Given the description of an element on the screen output the (x, y) to click on. 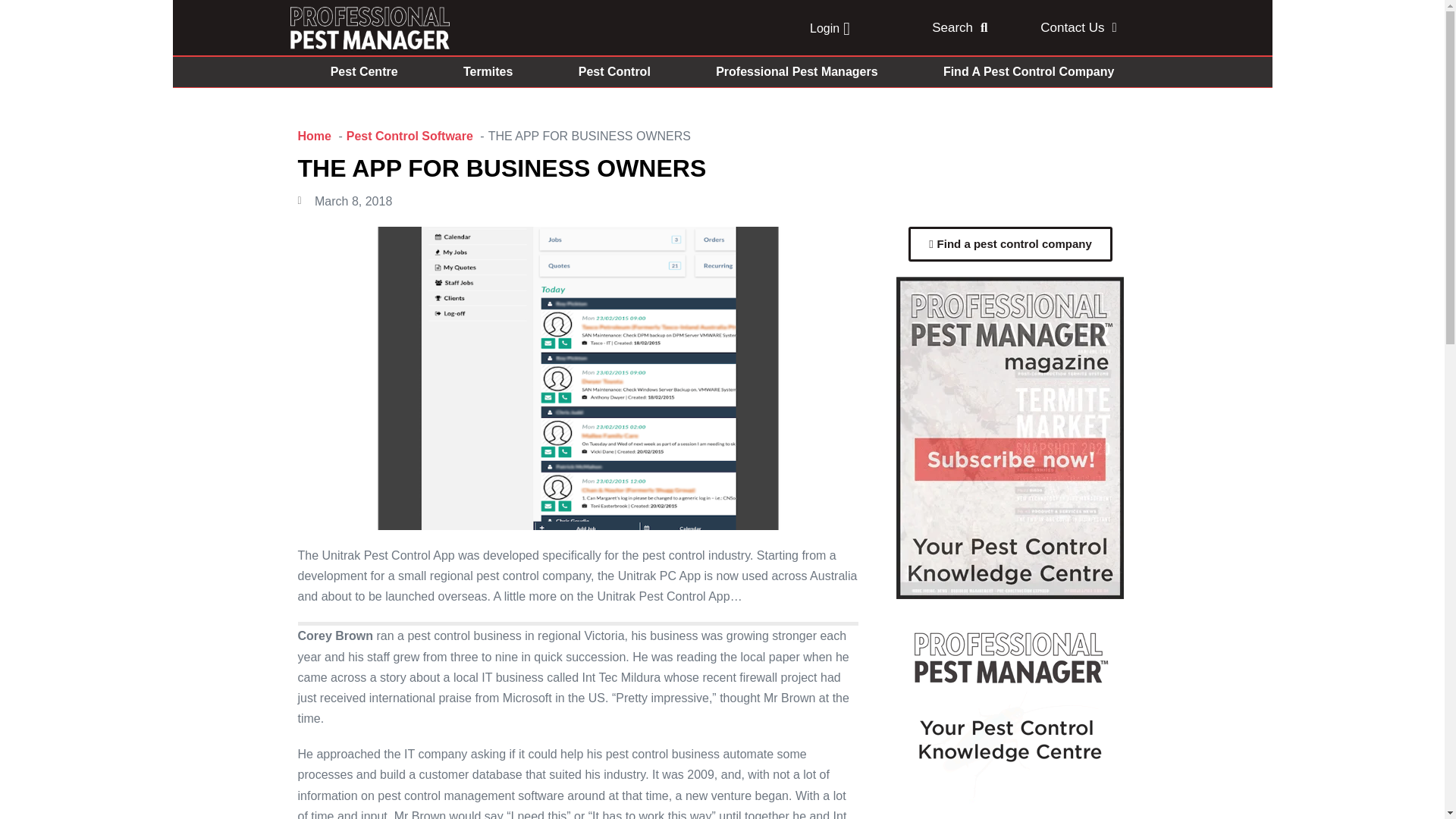
Pest Centre (363, 71)
Pest Control (614, 71)
Contact Us (1078, 27)
Login (829, 28)
Professional Pest Managers (796, 71)
Search (959, 27)
Termites (488, 71)
